Given the description of an element on the screen output the (x, y) to click on. 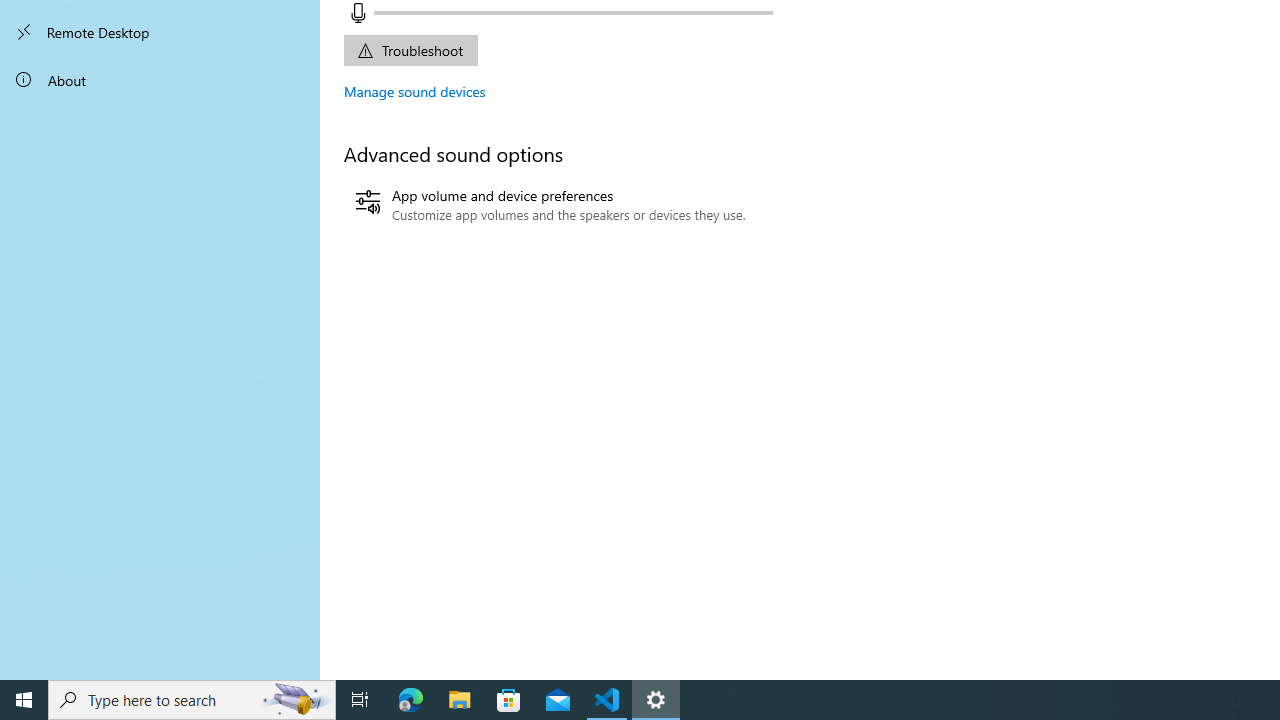
Manage sound devices (415, 91)
About (160, 79)
App volume and device preferences (550, 205)
Input device troubleshoot (410, 50)
Remote Desktop (160, 31)
